Given the description of an element on the screen output the (x, y) to click on. 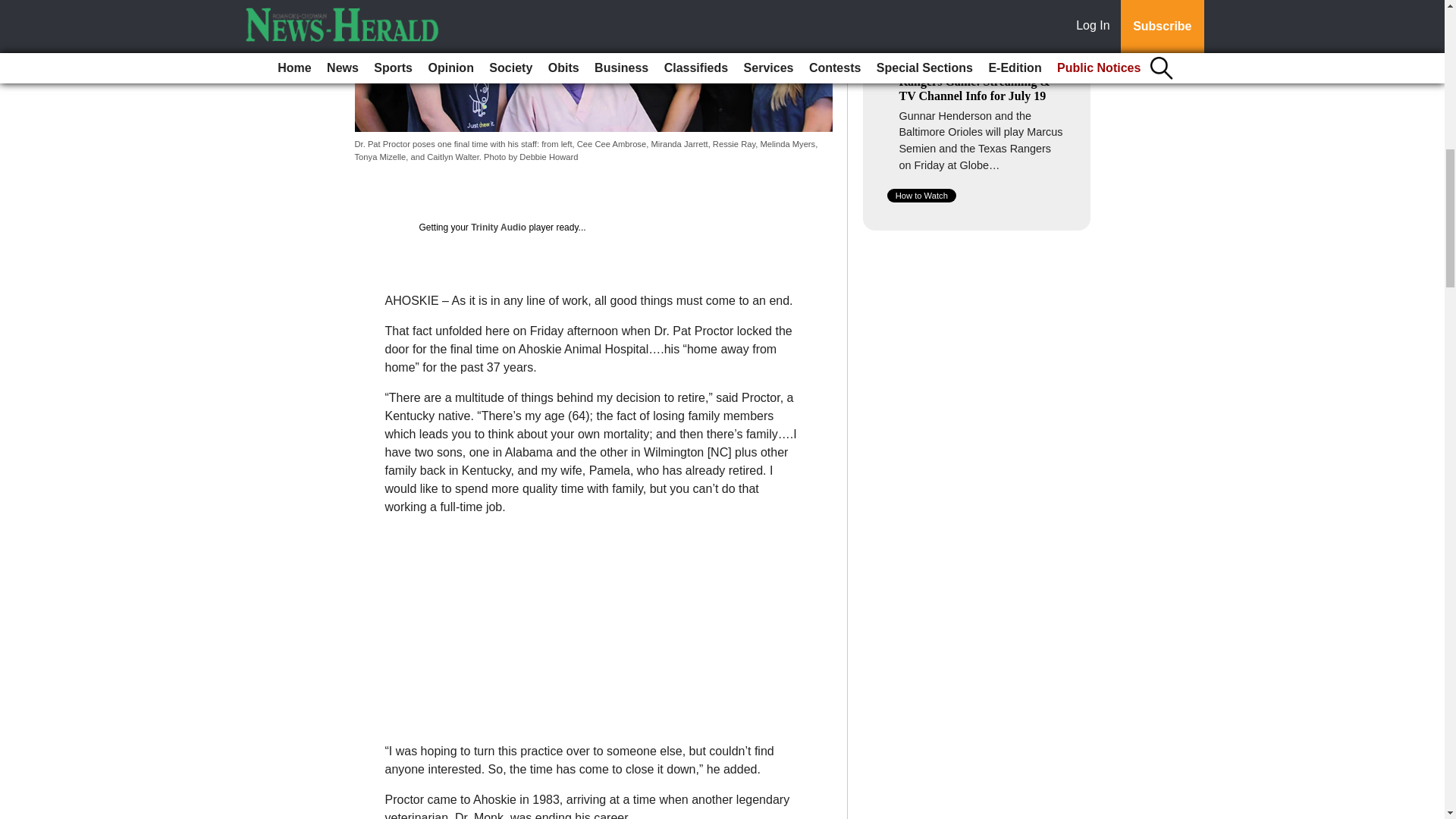
Trinity Audio (497, 226)
